Given the description of an element on the screen output the (x, y) to click on. 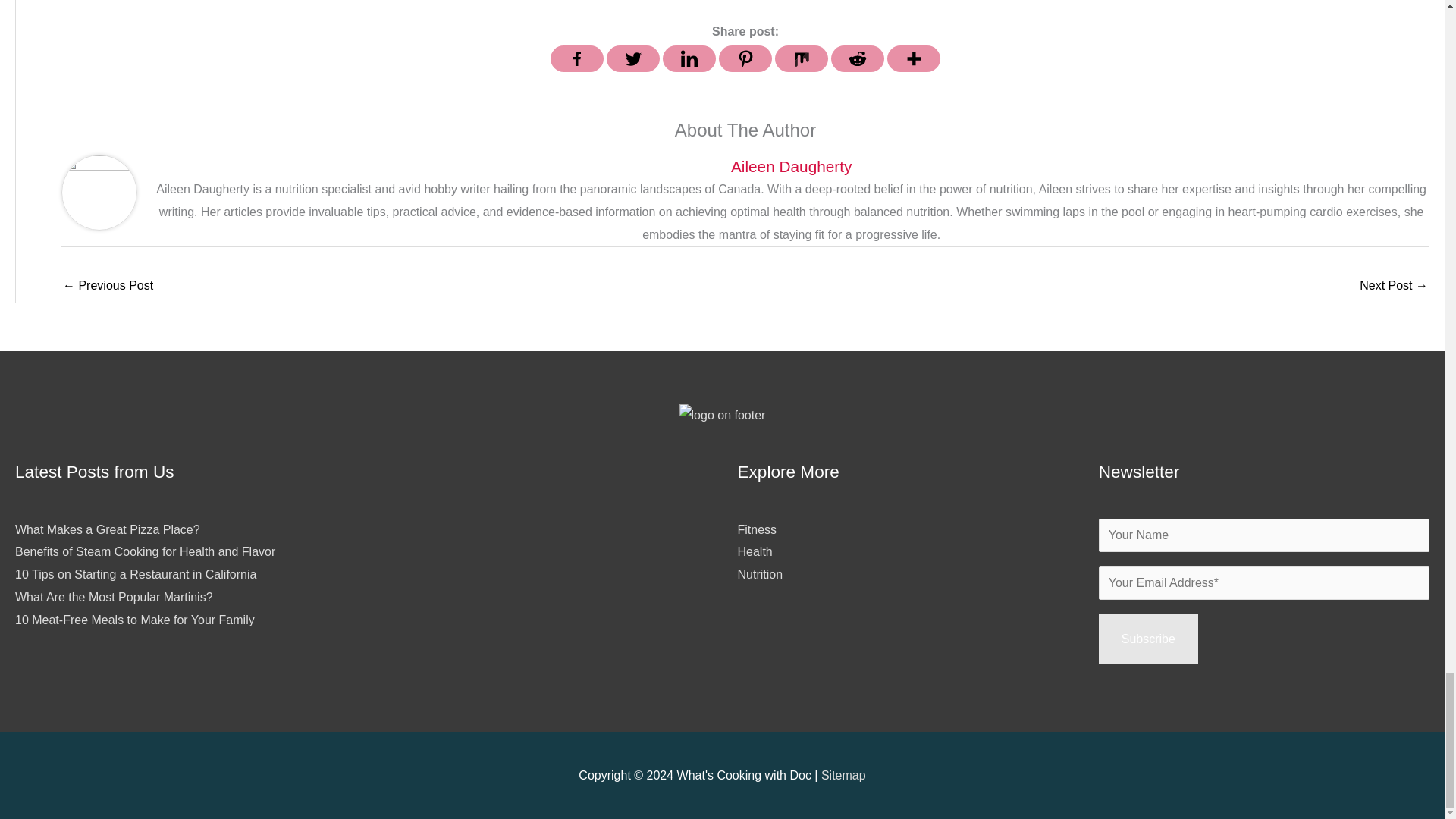
Mix (801, 58)
Aileen Daugherty (790, 166)
Twitter (633, 58)
10 Tips on Starting a Restaurant in California (135, 574)
What Are the Most Popular Martinis? (113, 596)
What Makes a Great Pizza Place? (107, 529)
Subscribe (1148, 639)
Facebook (577, 58)
Benefits of Steam Cooking for Health and Flavor (144, 551)
Pinterest (745, 58)
More (913, 58)
6 Super Easy Things to Do to Improve Indoor Air Quality (1393, 286)
Reddit (857, 58)
10 Meat-Free Meals to Make for Your Family (134, 619)
Rooftop Gardening: What You Need to Know and Prepare For (107, 286)
